Given the description of an element on the screen output the (x, y) to click on. 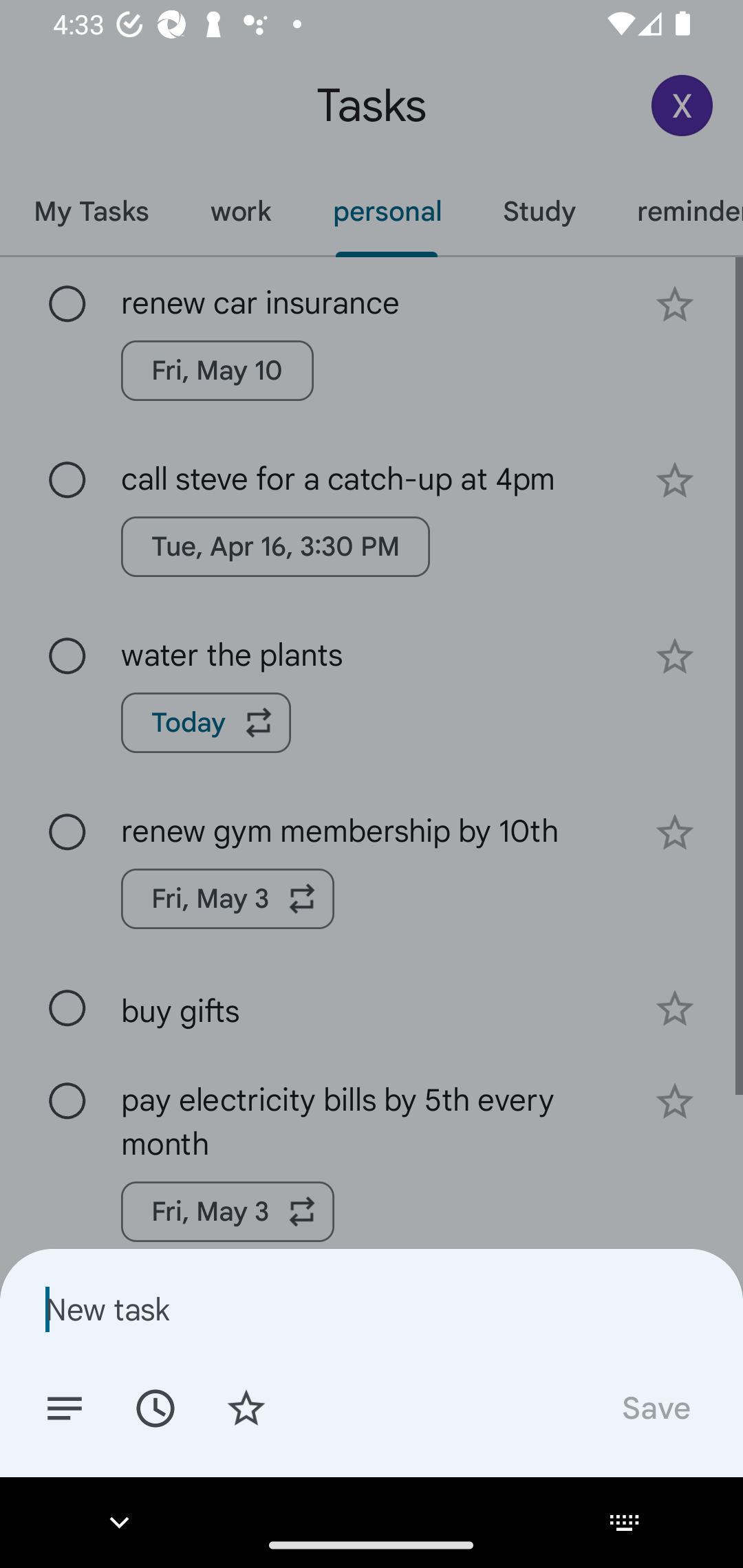
New task (371, 1308)
Save (655, 1407)
Add details (64, 1407)
Set date/time (154, 1407)
Add star (245, 1407)
